Given the description of an element on the screen output the (x, y) to click on. 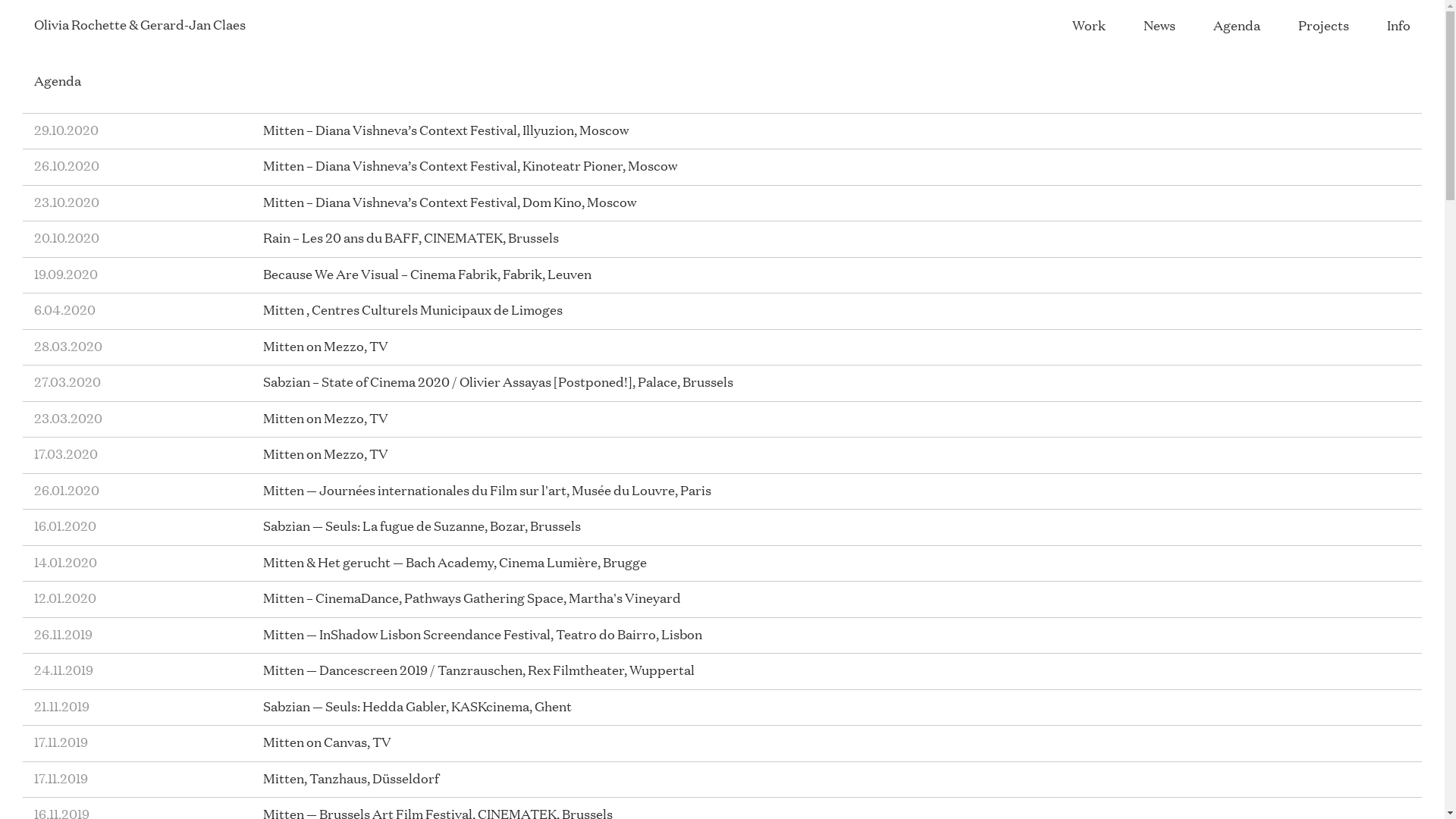
23.03.2020
Mitten on Mezzo, TV Element type: text (722, 418)
17.11.2019
Mitten on Canvas, TV Element type: text (722, 742)
6.04.2020
Mitten , Centres Culturels Municipaux de Limoges Element type: text (722, 310)
28.03.2020
Mitten on Mezzo, TV Element type: text (722, 346)
Work Element type: text (1088, 24)
17.03.2020
Mitten on Mezzo, TV Element type: text (722, 454)
Agenda Element type: text (1236, 24)
Info Element type: text (1398, 24)
Skip to main content Element type: text (70, 0)
Projects Element type: text (1323, 24)
Olivia Rochette & Gerard-Jan Claes Element type: text (139, 24)
News Element type: text (1159, 24)
